Given the description of an element on the screen output the (x, y) to click on. 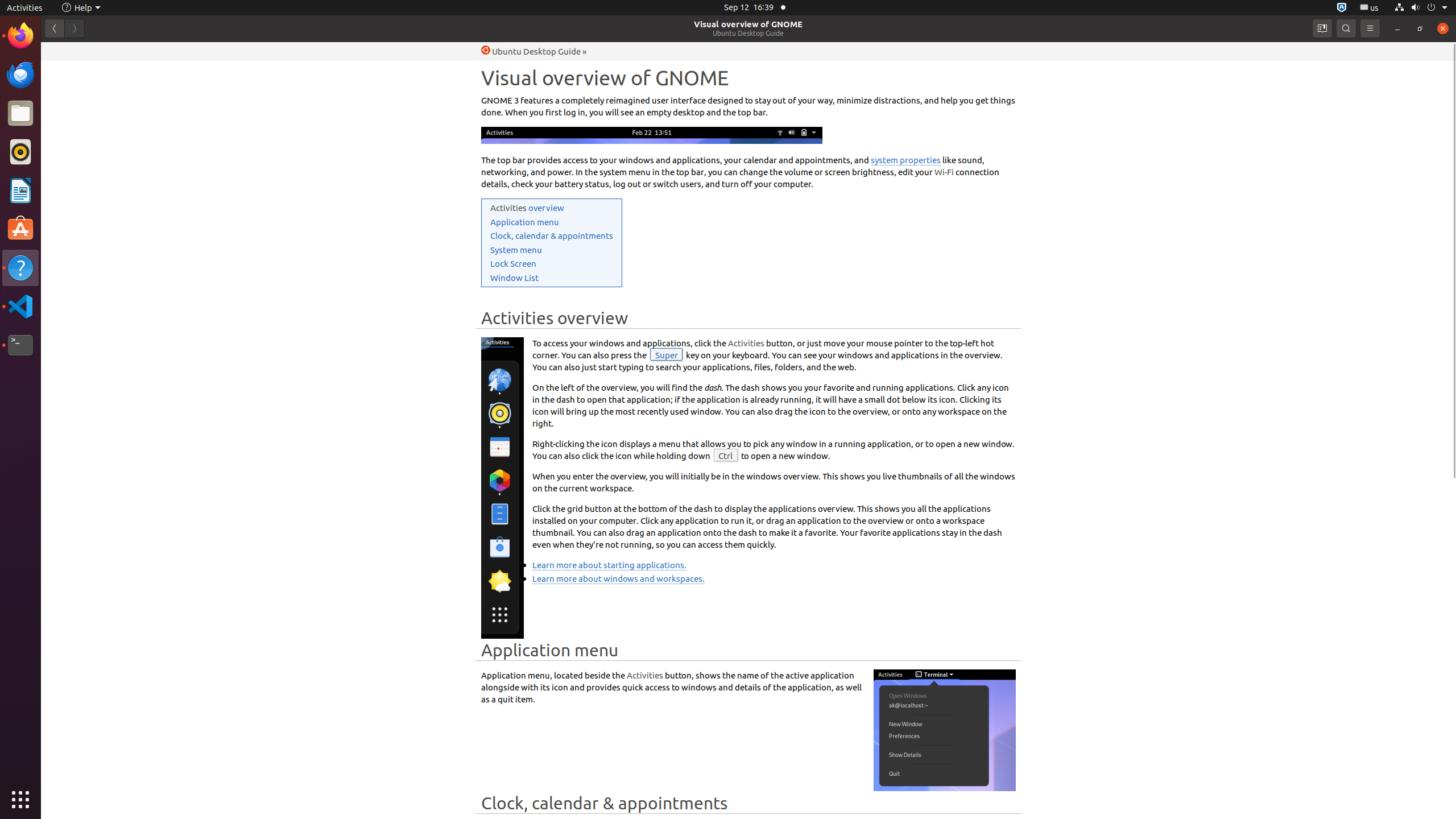
Minimize Element type: push-button (1397, 27)
Window List Element type: link (514, 277)
Help Ubuntu Desktop Guide Element type: link (530, 50)
IsaHelpMain.desktop Element type: label (75, 170)
